Given the description of an element on the screen output the (x, y) to click on. 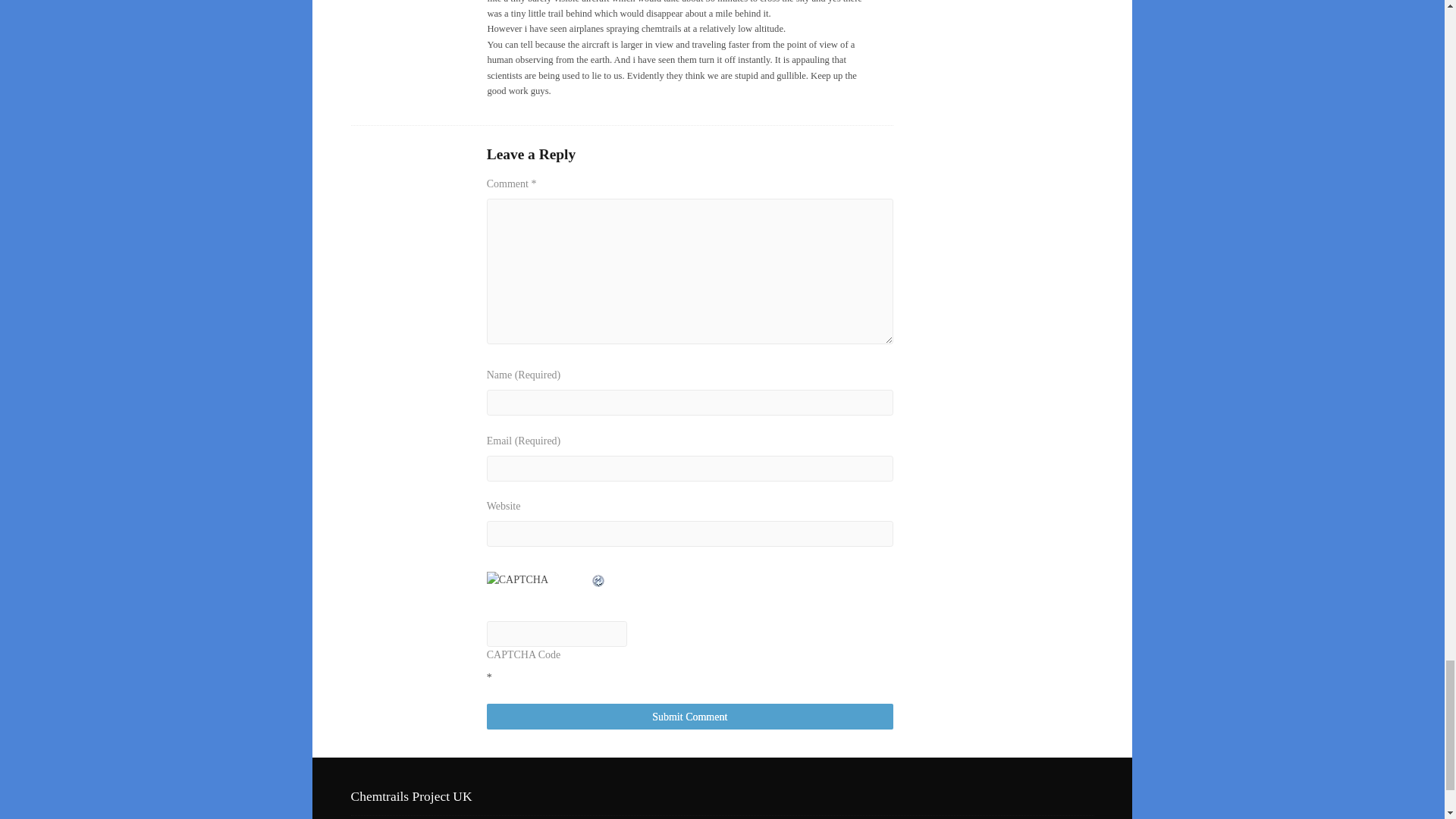
Submit Comment (689, 716)
CAPTCHA (538, 588)
Refresh (599, 579)
